Given the description of an element on the screen output the (x, y) to click on. 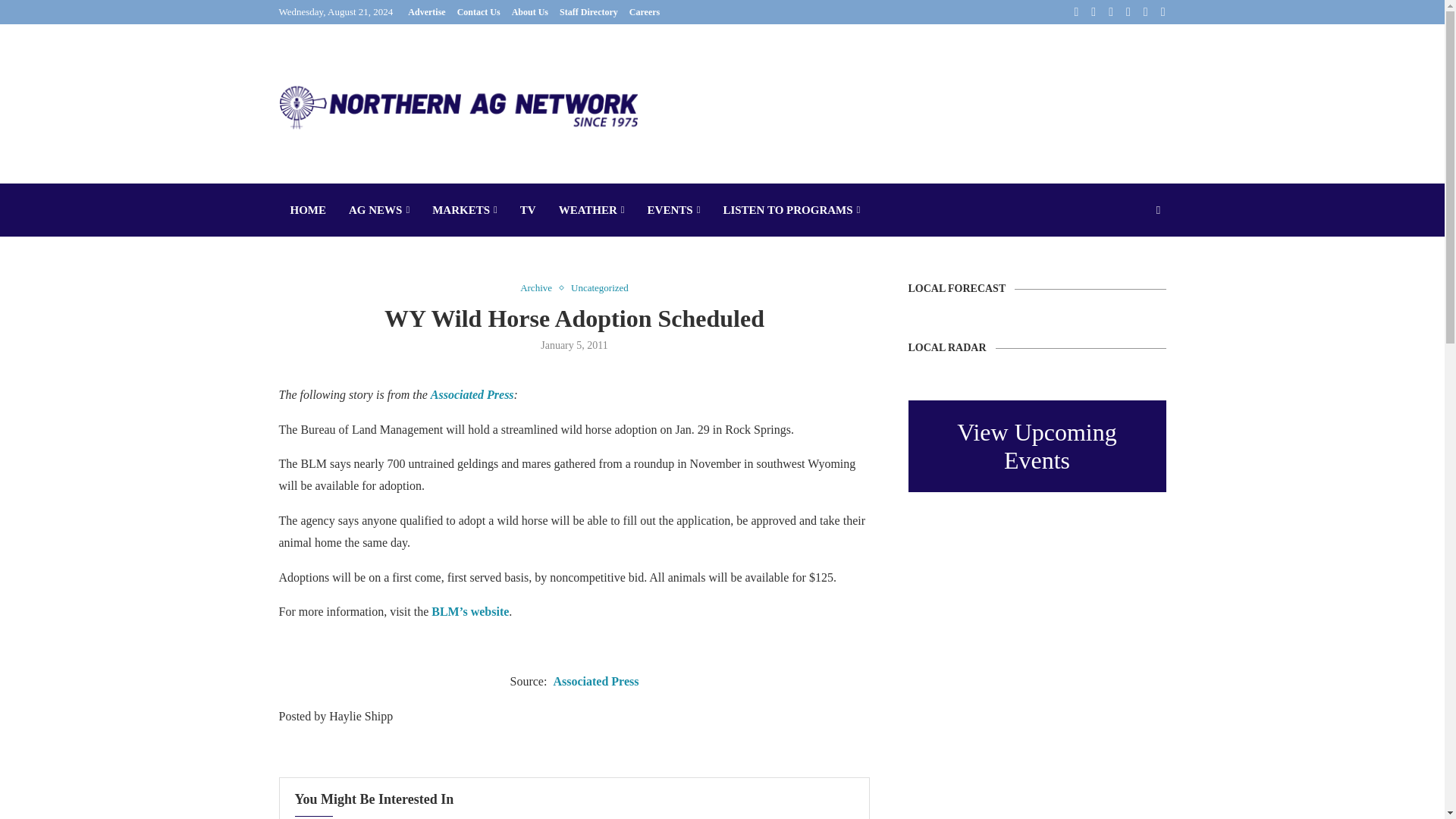
Staff Directory (588, 12)
About Us (530, 12)
Contact Us (478, 12)
Careers (643, 12)
Advertise (426, 12)
